Given the description of an element on the screen output the (x, y) to click on. 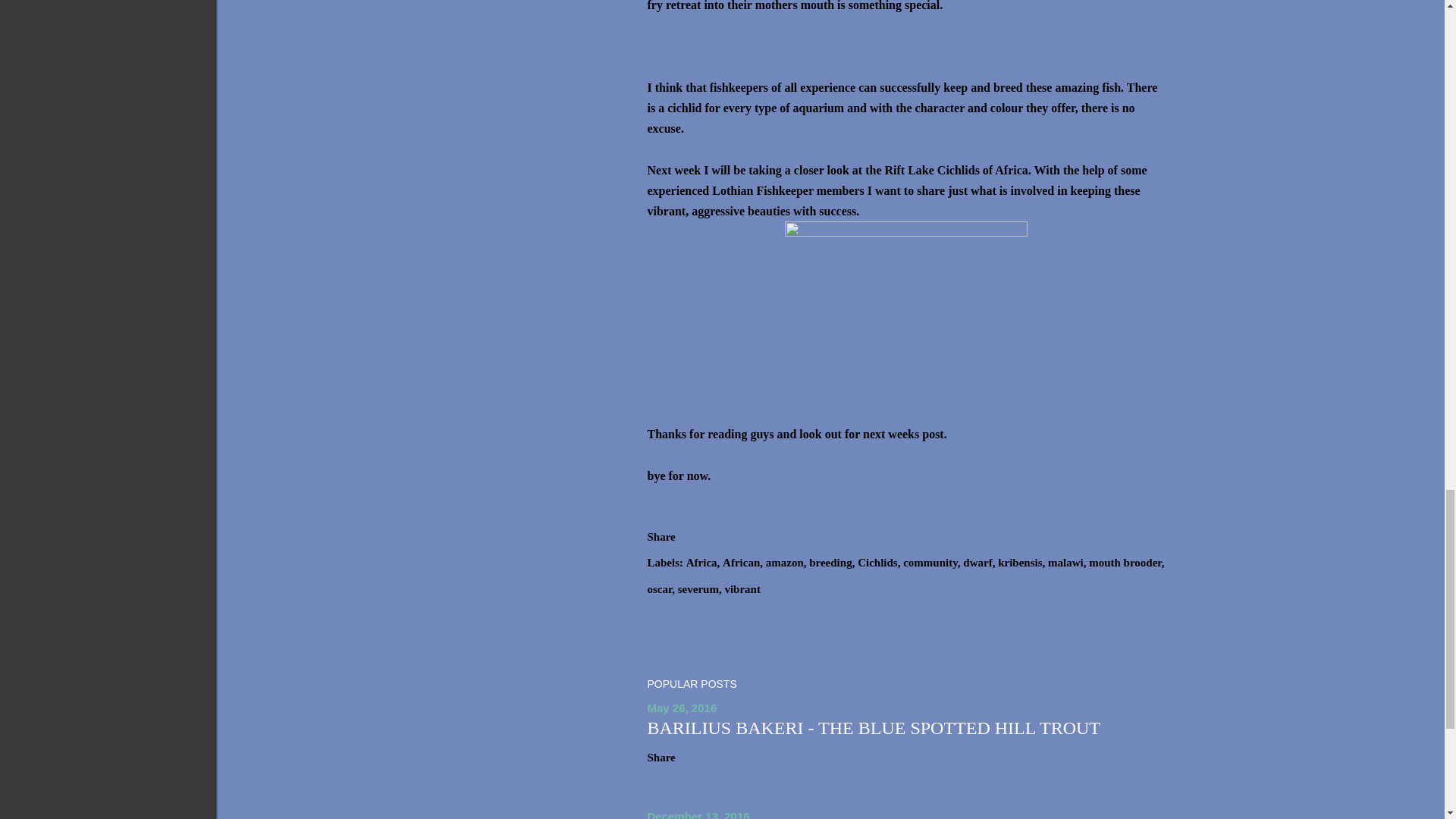
breeding (831, 562)
community (930, 562)
Cichlids (878, 562)
permanent link (682, 707)
dwarf (978, 562)
African (742, 562)
Africa (702, 562)
Share (661, 536)
amazon (785, 562)
mouth brooder (1126, 562)
malawi (1067, 562)
oscar (661, 589)
kribensis (1021, 562)
